Given the description of an element on the screen output the (x, y) to click on. 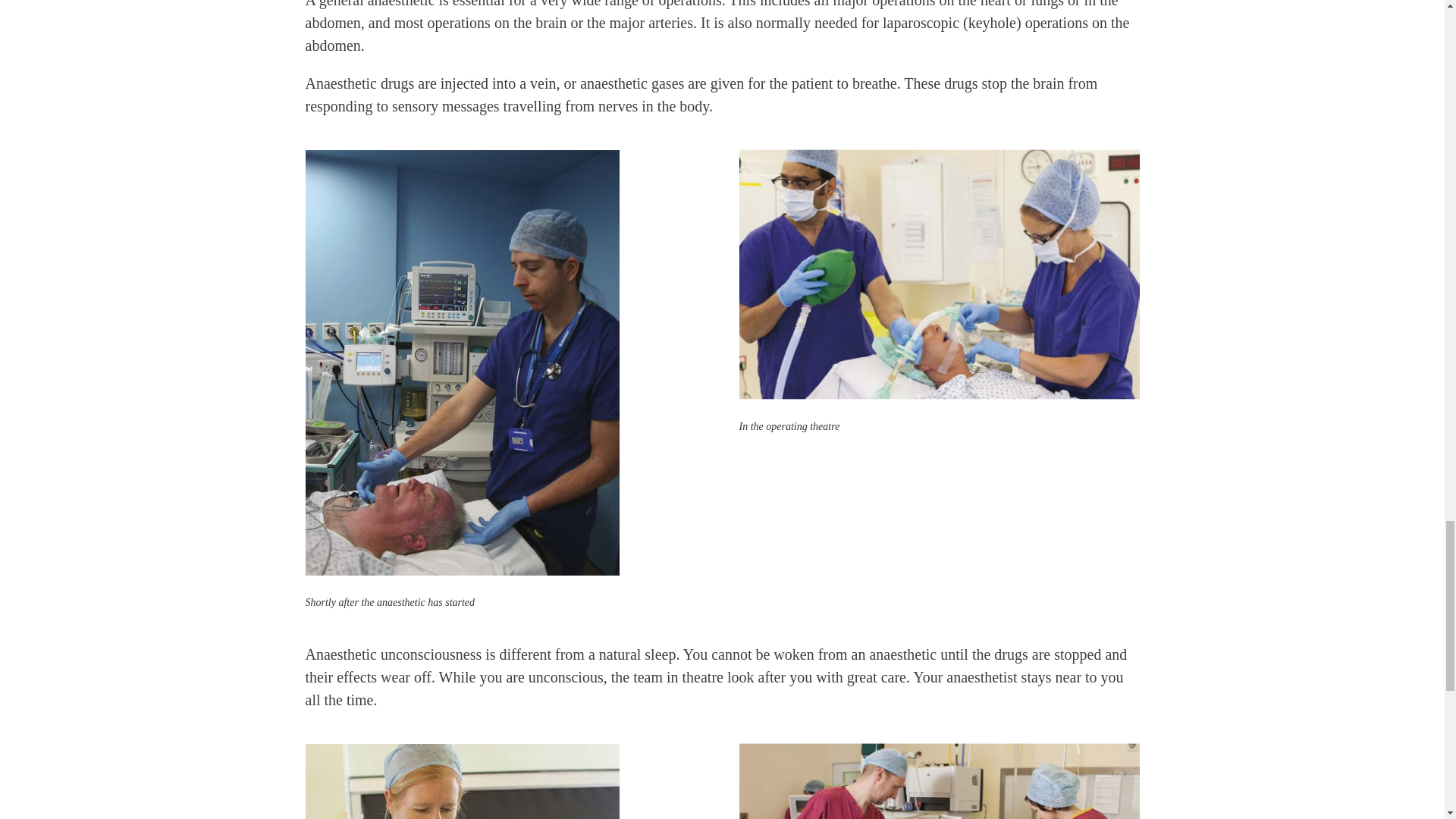
7 (938, 274)
9 (938, 780)
8 (461, 780)
